Given the description of an element on the screen output the (x, y) to click on. 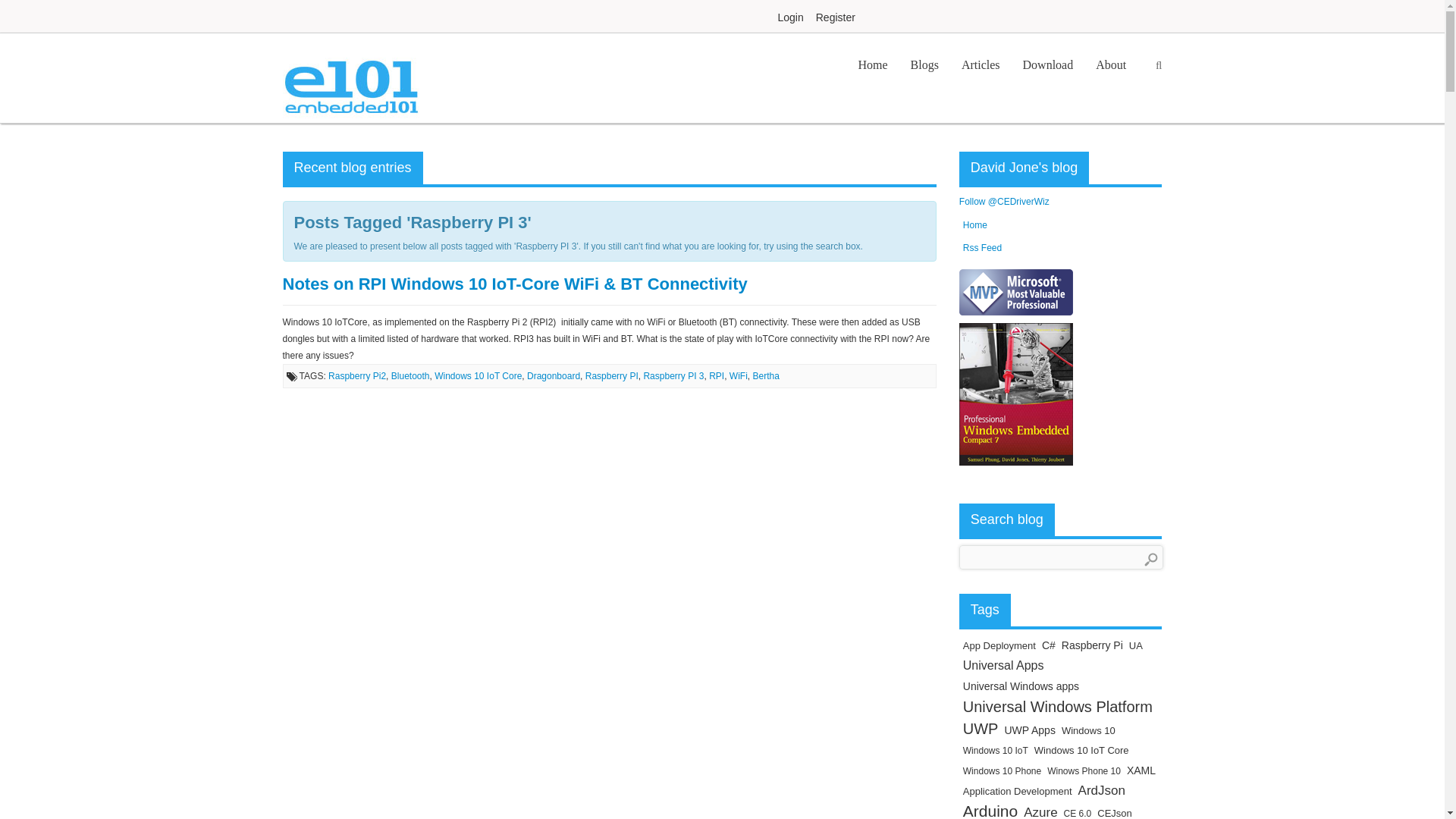
Embedded101 (350, 77)
Articles (981, 65)
Posts tagged with  UA (1135, 645)
Search Posts (1150, 559)
Raspberry PI (612, 376)
Bluetooth (410, 376)
Download (1048, 65)
Posts tagged with  Universal Windows apps (1020, 686)
WiFi (738, 376)
Raspberry Pi2 (357, 376)
Posts tagged with  UWP Apps (1029, 729)
Rss Feed (981, 247)
App Deployment (998, 645)
Register (835, 16)
Posts tagged with  UWP (980, 728)
